Given the description of an element on the screen output the (x, y) to click on. 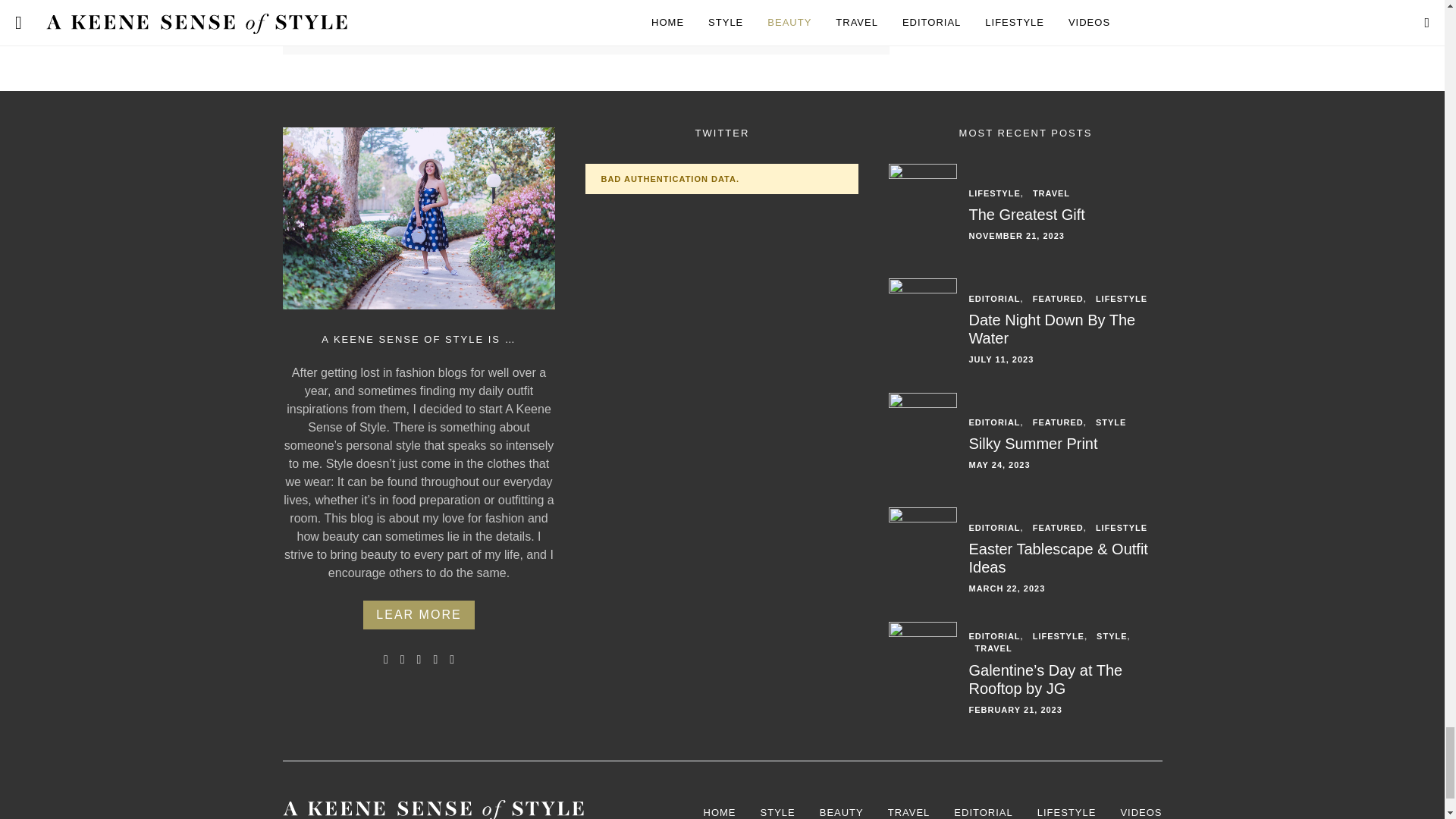
Post Comment (401, 2)
